Given the description of an element on the screen output the (x, y) to click on. 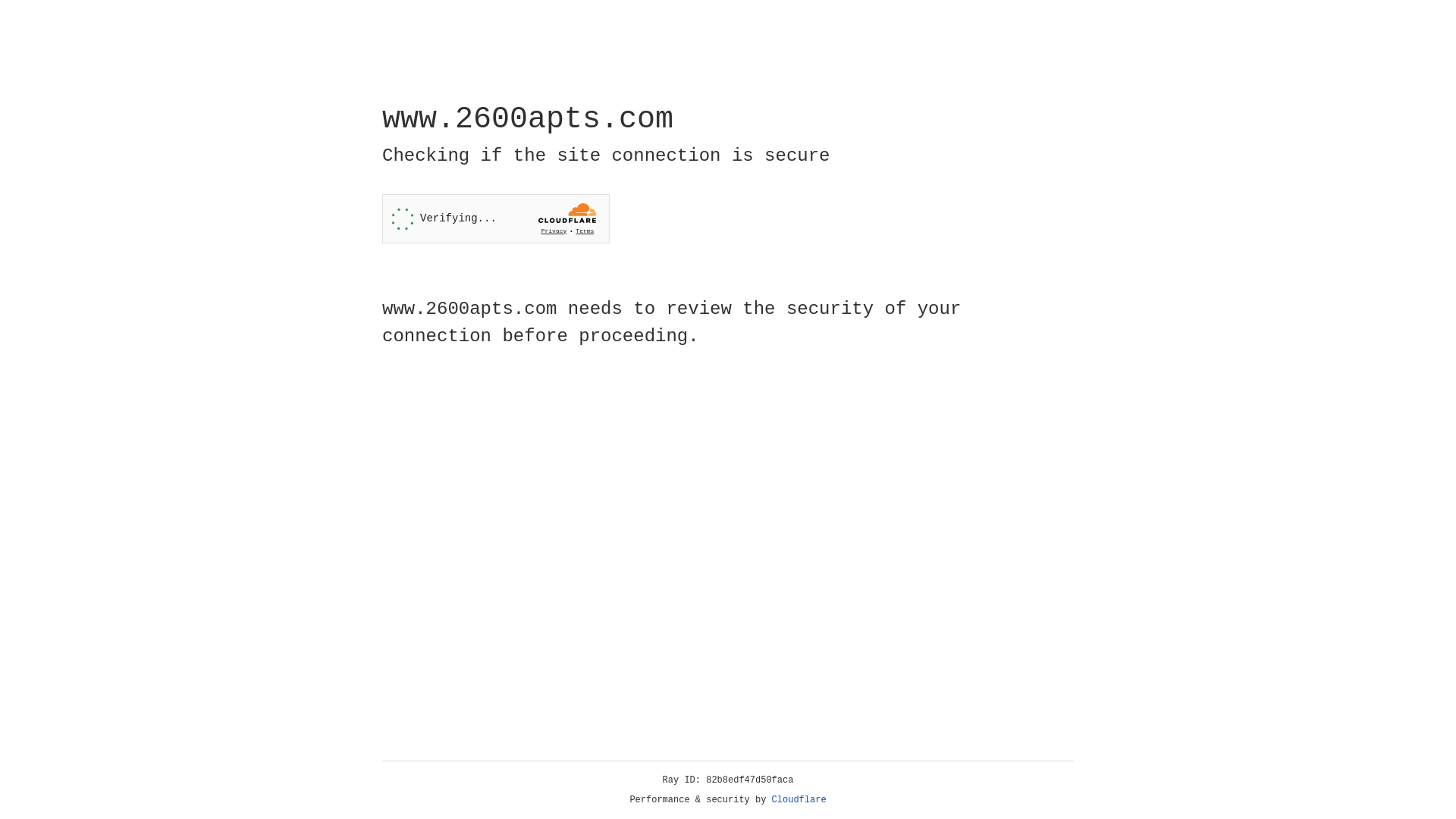
Widget containing a Cloudflare security challenge Element type: hover (495, 218)
Cloudflare Element type: text (798, 799)
